Given the description of an element on the screen output the (x, y) to click on. 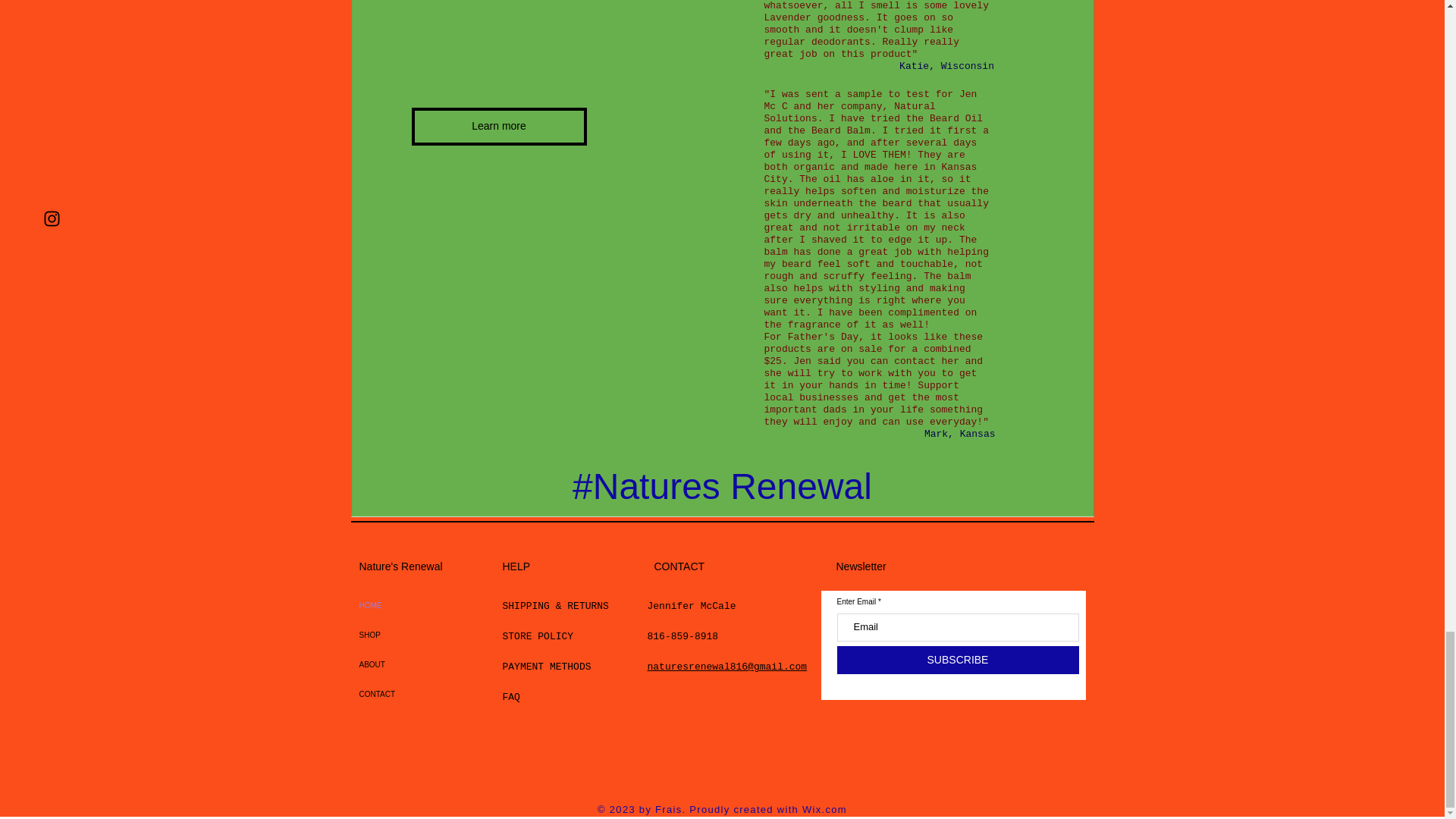
Learn more (498, 126)
SHOP (393, 634)
PAYMENT METHODS (546, 666)
SUBSCRIBE (957, 660)
FAQ (510, 696)
STORE POLICY  (540, 636)
Natural Solutions (850, 112)
HOME (393, 604)
Jen Mc C (870, 100)
CONTACT (393, 694)
ABOUT (393, 664)
Wix.com (824, 808)
